Given the description of an element on the screen output the (x, y) to click on. 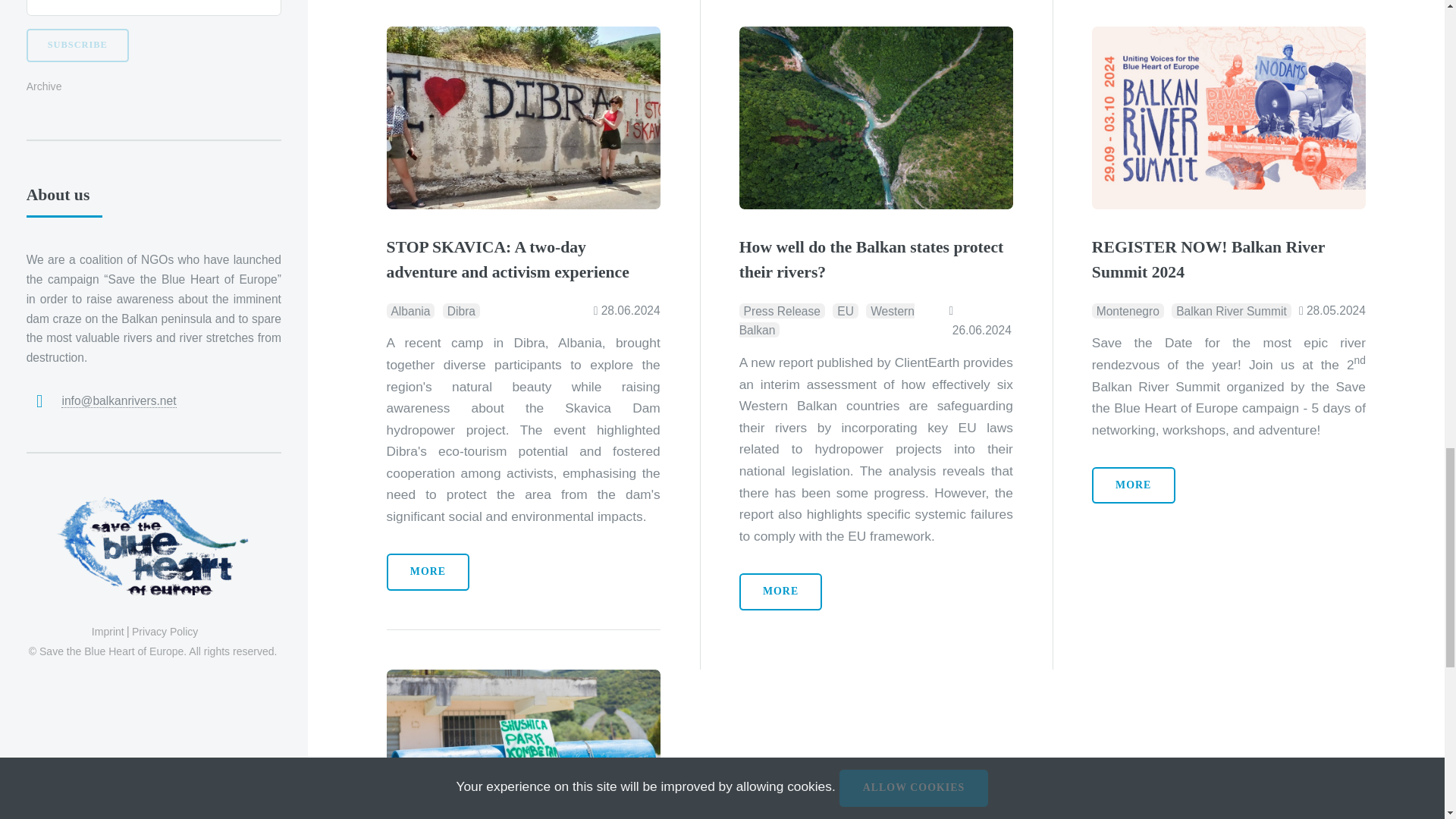
Press Release (782, 310)
MORE (428, 571)
Dibra (461, 310)
EU (844, 310)
Albania (411, 310)
Subscribe (77, 45)
